Given the description of an element on the screen output the (x, y) to click on. 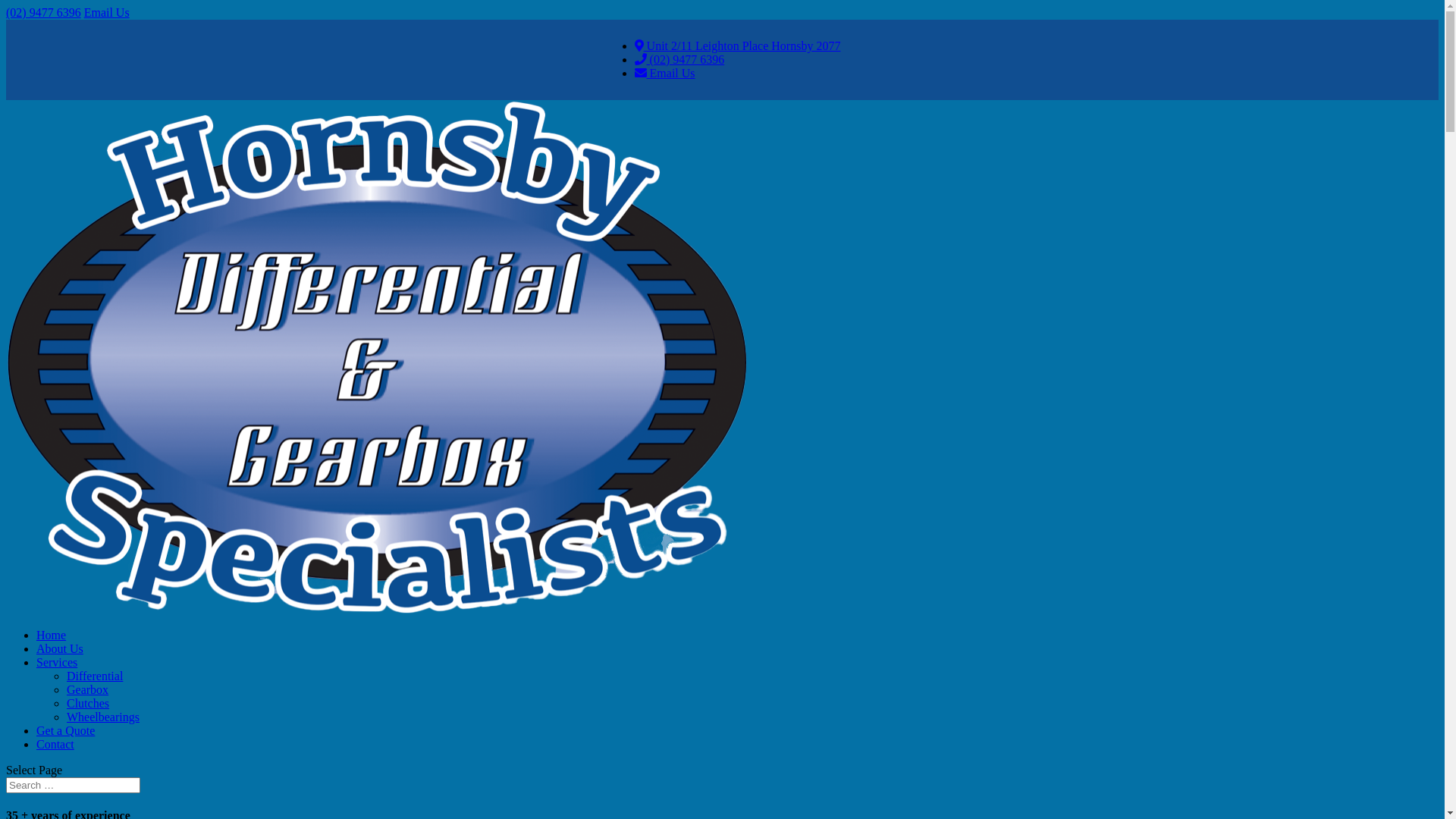
Email Us Element type: text (106, 12)
Clutches Element type: text (87, 702)
Differential Element type: text (94, 675)
Contact Element type: text (55, 743)
Home Element type: text (50, 634)
Get a Quote Element type: text (65, 730)
Wheelbearings Element type: text (102, 716)
Gearbox Element type: text (87, 689)
(02) 9477 6396 Element type: text (43, 12)
(02) 9477 6396 Element type: text (679, 59)
About Us Element type: text (59, 648)
Services Element type: text (56, 661)
Search for: Element type: hover (73, 785)
Unit 2/11 Leighton Place Hornsby 2077 Element type: text (737, 45)
Email Us Element type: text (664, 72)
